Given the description of an element on the screen output the (x, y) to click on. 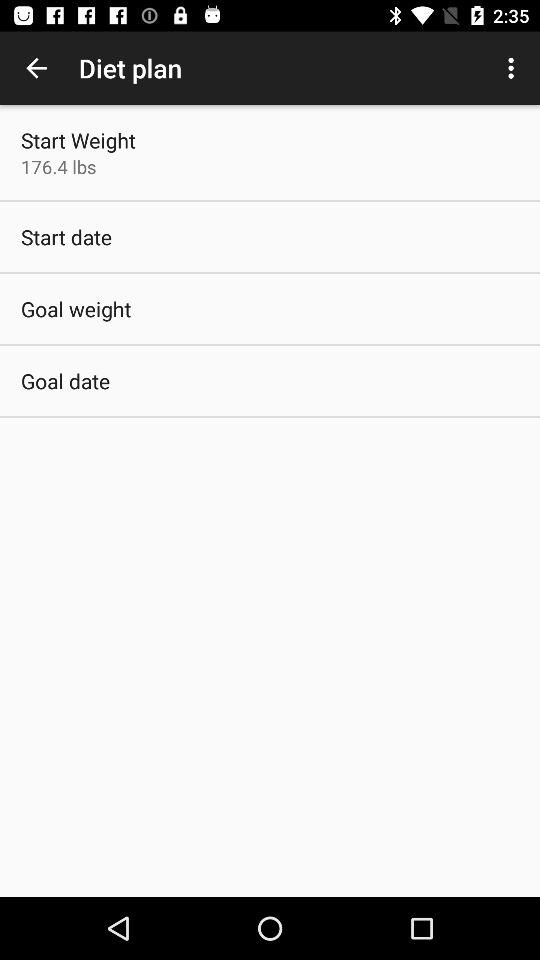
select the app next to diet plan item (36, 68)
